Given the description of an element on the screen output the (x, y) to click on. 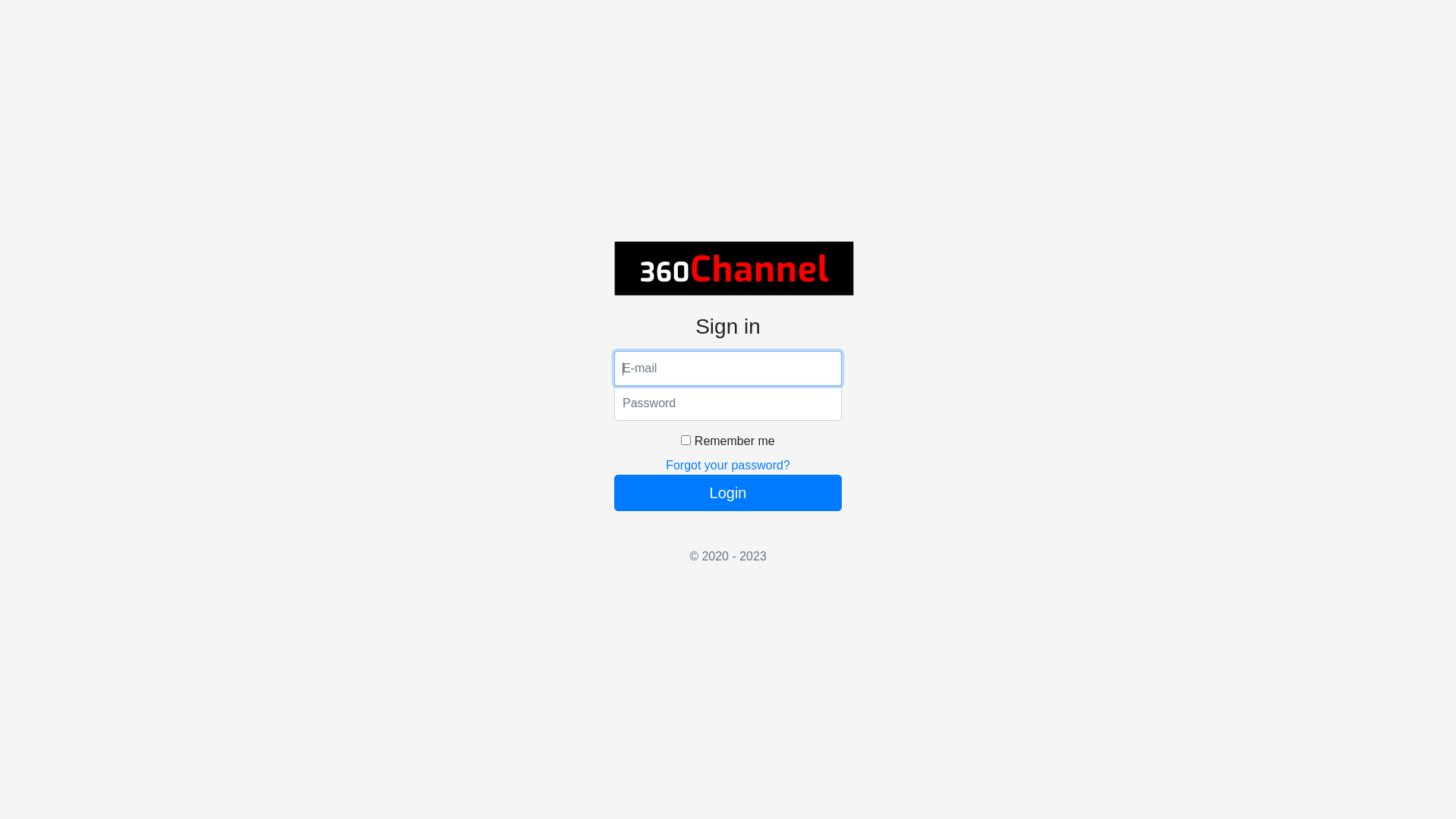
Forgot your password? Element type: text (727, 464)
Login Element type: text (727, 492)
